Given the description of an element on the screen output the (x, y) to click on. 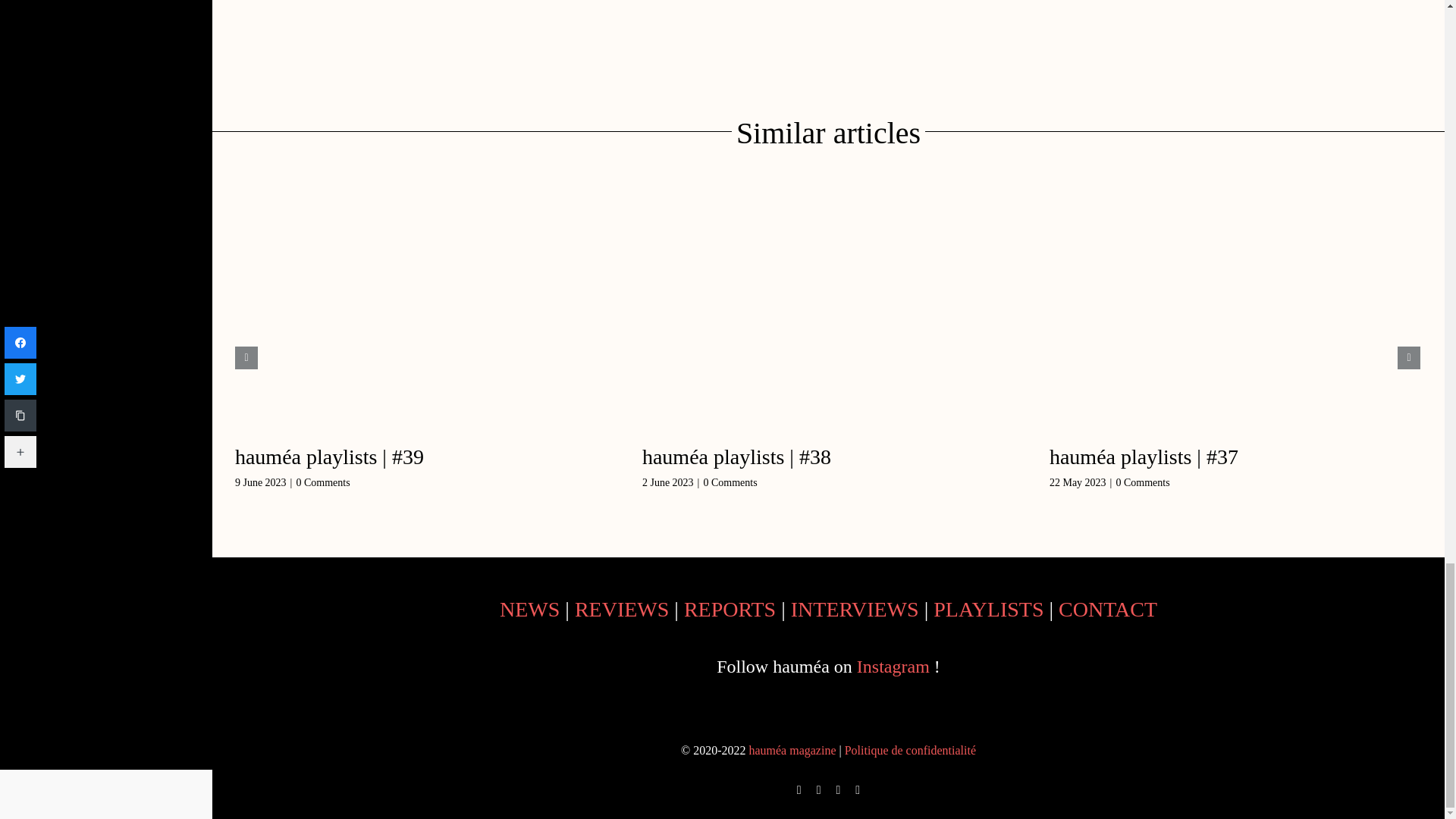
0 Comments (730, 482)
0 Comments (322, 482)
